Given the description of an element on the screen output the (x, y) to click on. 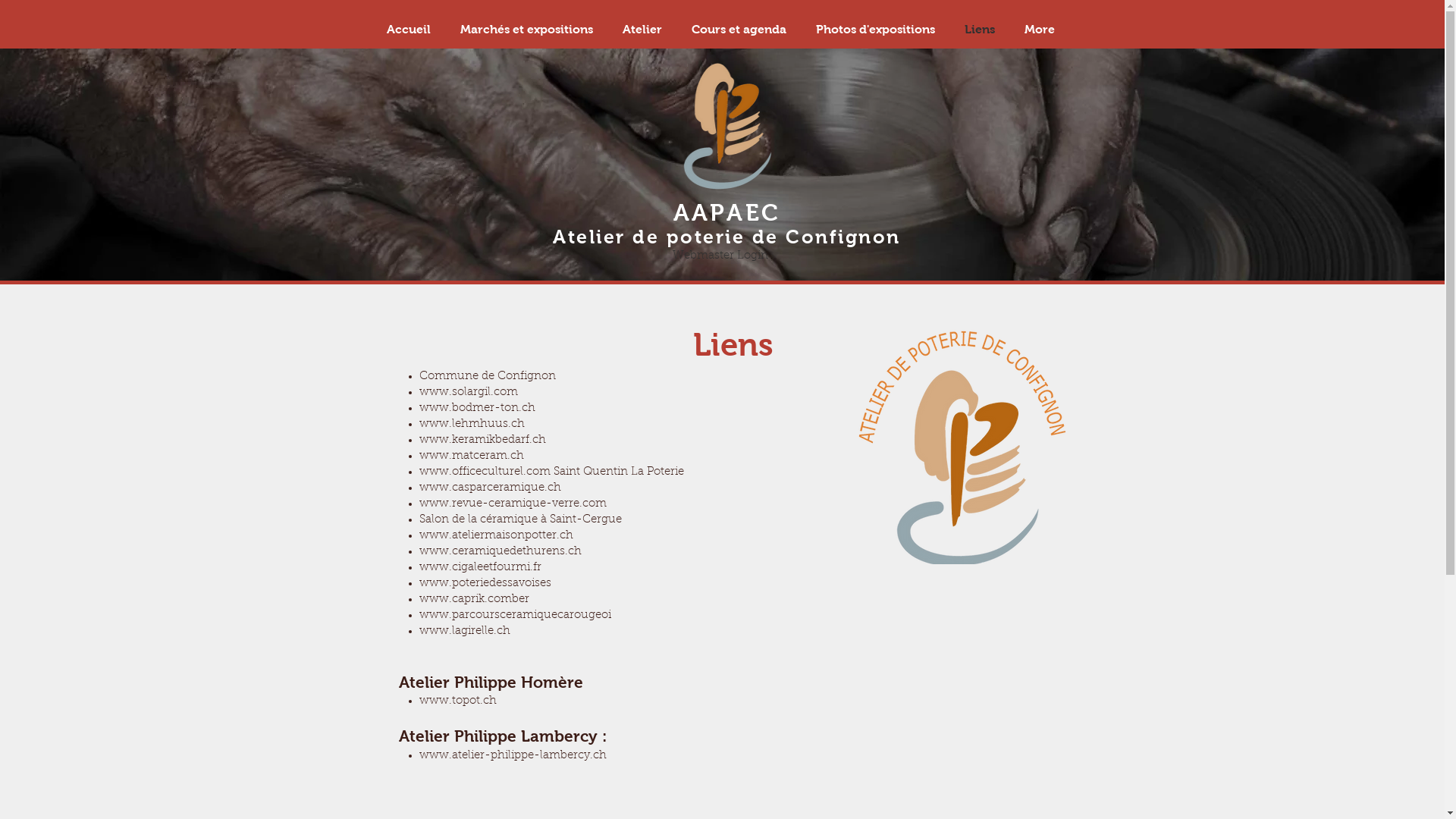
Commune de Confignon Element type: text (486, 376)
Atelier Element type: text (642, 29)
www.topot.ch Element type: text (456, 700)
www.officeculturel.com Element type: text (483, 471)
Cours et agenda Element type: text (738, 29)
www.casparceramique.ch Element type: text (489, 487)
www.cigaleetfourmi.fr Element type: text (479, 567)
www.parcoursceramiquecarougeoi Element type: text (514, 615)
Webmaster Login Element type: text (719, 255)
www.lagirelle.ch Element type: text (463, 631)
Accueil Element type: text (408, 29)
www.poteriedessavoises Element type: text (484, 583)
www.ceramiquedethurens.ch Element type: text (499, 551)
AAPAEC Element type: text (726, 212)
www.keramikbedarf.ch Element type: text (481, 439)
www.solargil.com Element type: text (467, 392)
www.matceram.ch Element type: text (470, 455)
www.lehmhuus.ch Element type: text (471, 423)
Liens Element type: text (979, 29)
www.ateliermaisonpotter.ch Element type: text (495, 535)
www.revue-ceramique-verre.com Element type: text (511, 503)
www.caprik.com Element type: text (464, 599)
Photos d'expositions Element type: text (874, 29)
www.atelier-philippe-lambercy.ch Element type: text (511, 755)
www.bodmer-ton.ch Element type: text (476, 408)
